Given the description of an element on the screen output the (x, y) to click on. 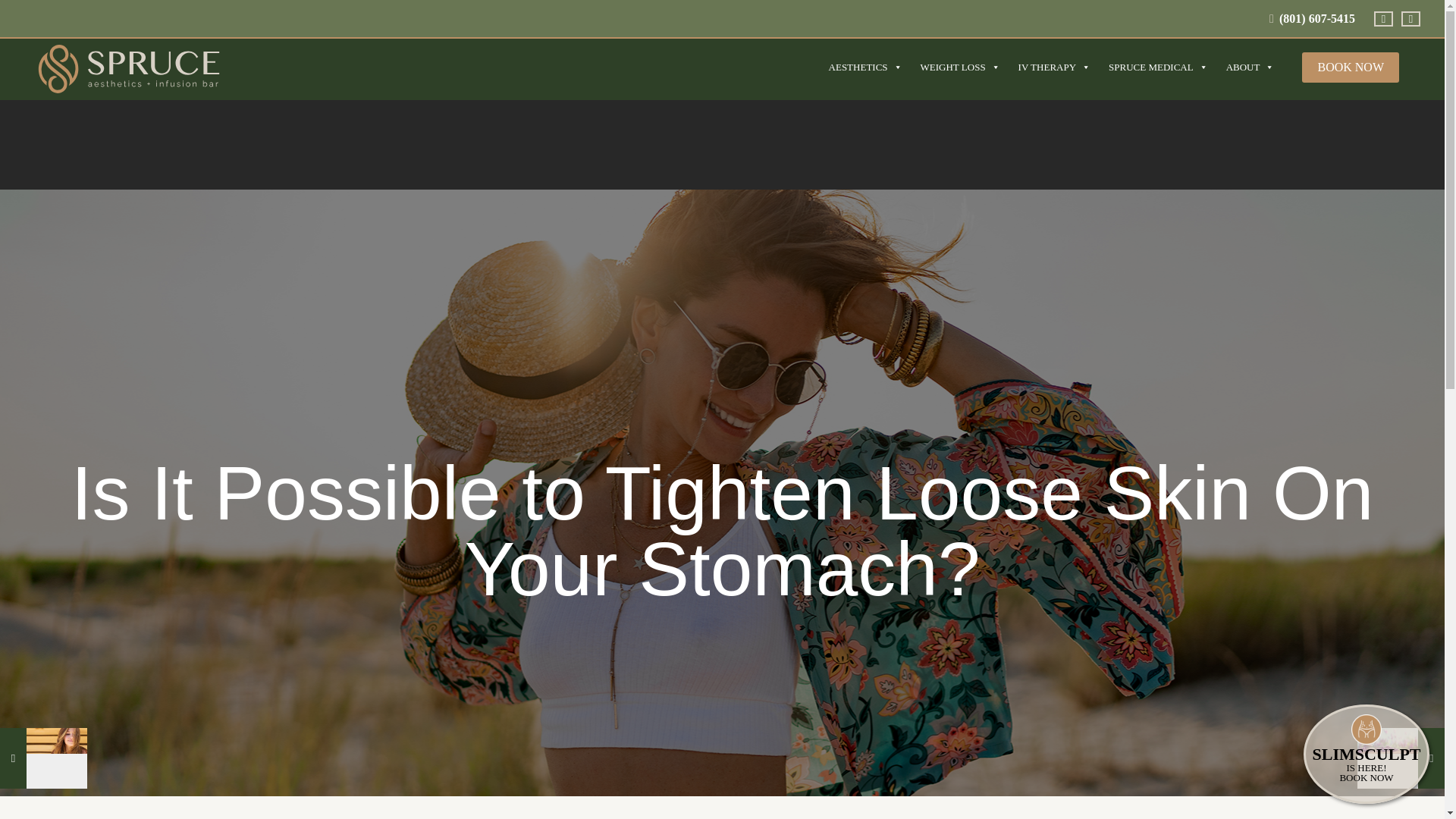
BOOK NOW (1350, 66)
AESTHETICS (865, 67)
WEIGHT LOSS (960, 67)
IV THERAPY (1054, 67)
ABOUT (1250, 67)
SPRUCE MEDICAL (1158, 67)
Facebook (1381, 19)
Instagram (1409, 19)
